Given the description of an element on the screen output the (x, y) to click on. 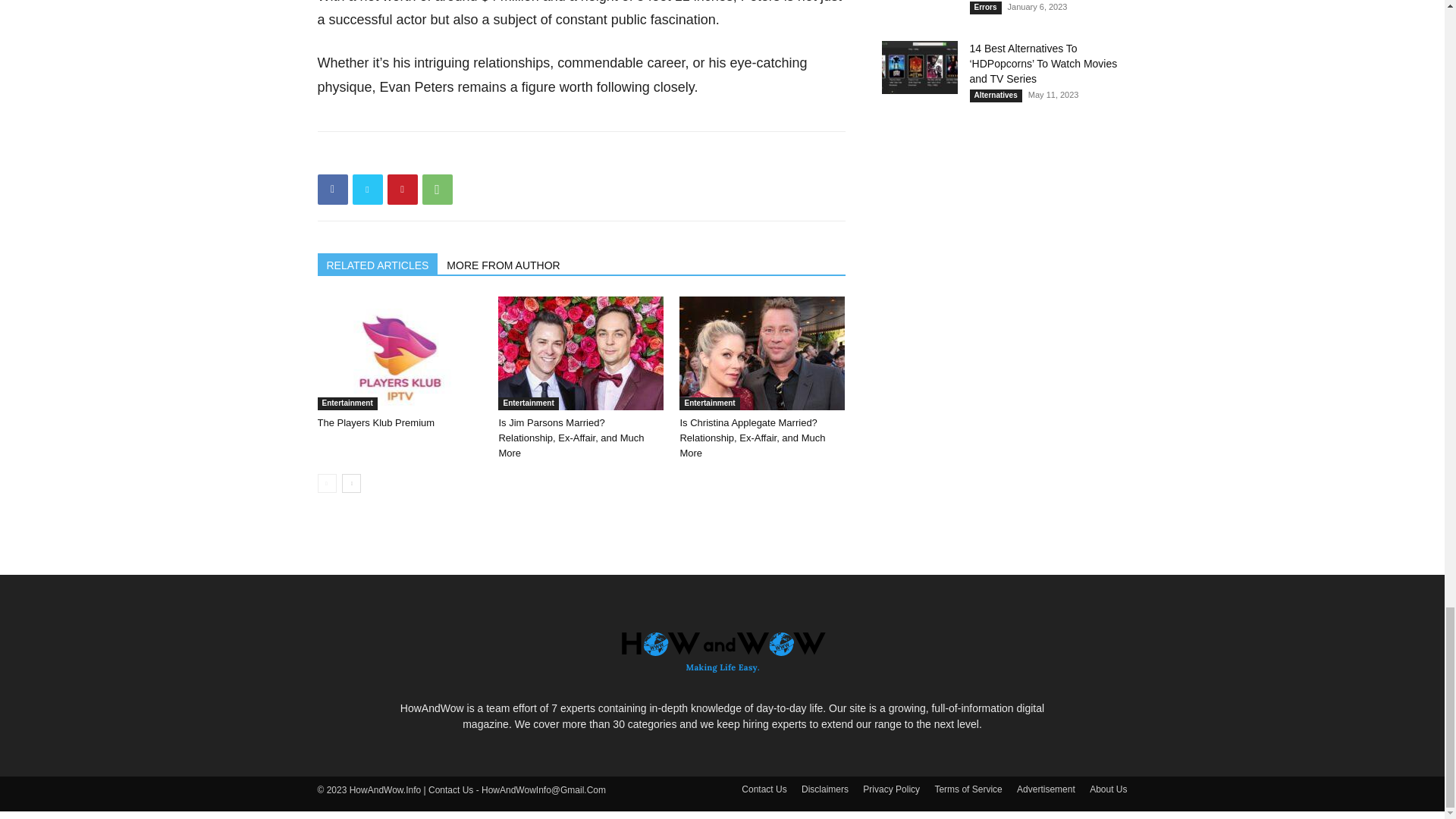
Twitter (366, 189)
WhatsApp (436, 189)
The Players Klub Premium (399, 353)
Facebook (332, 189)
Pinterest (401, 189)
The Players Klub Premium (375, 422)
